Given the description of an element on the screen output the (x, y) to click on. 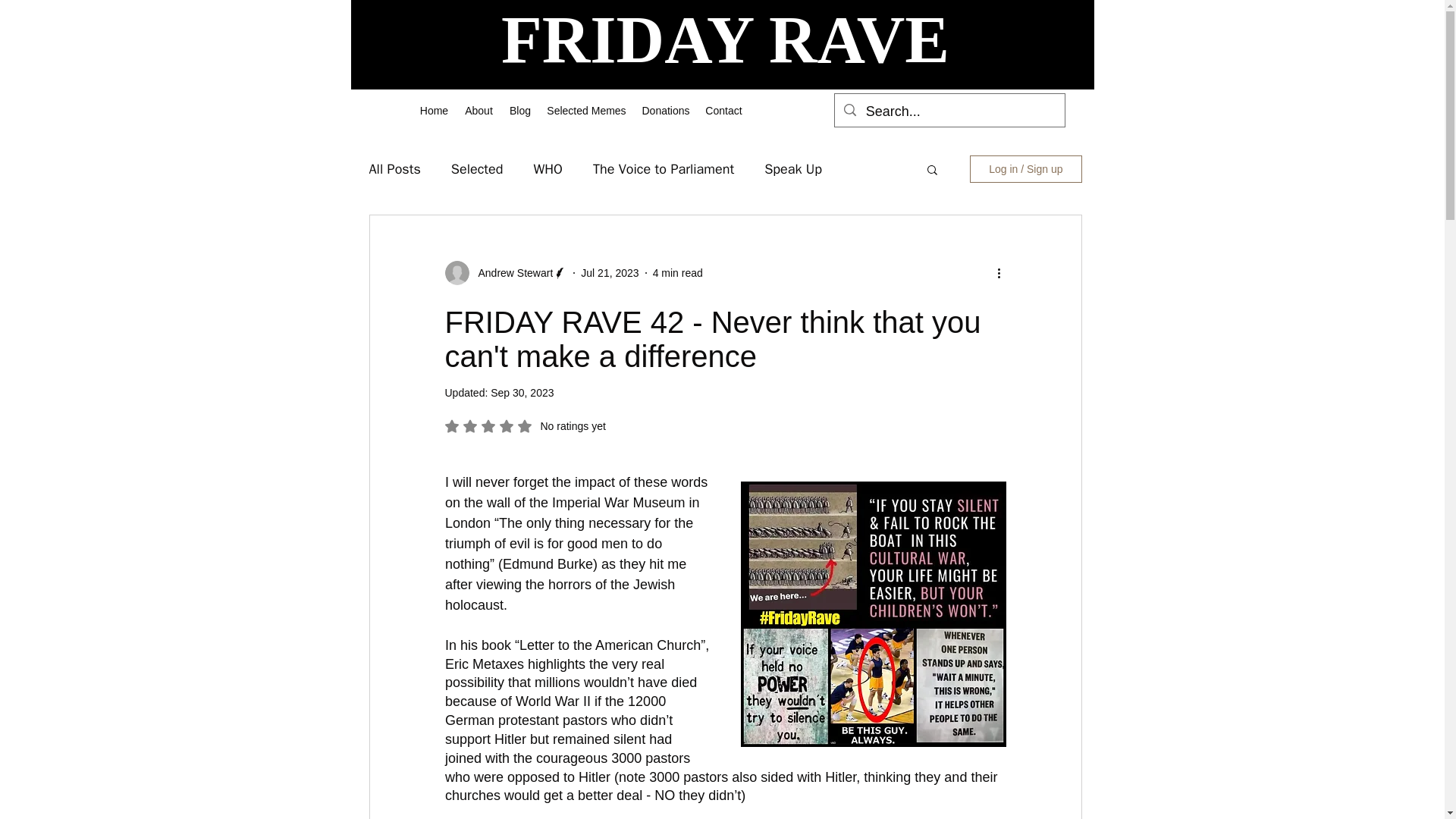
WHO (547, 168)
Blog (519, 110)
About (477, 110)
Speak Up (793, 168)
Selected (477, 168)
The Voice to Parliament (662, 168)
Donations (665, 110)
Contact (723, 110)
Jul 21, 2023 (609, 272)
Home (433, 110)
